Given the description of an element on the screen output the (x, y) to click on. 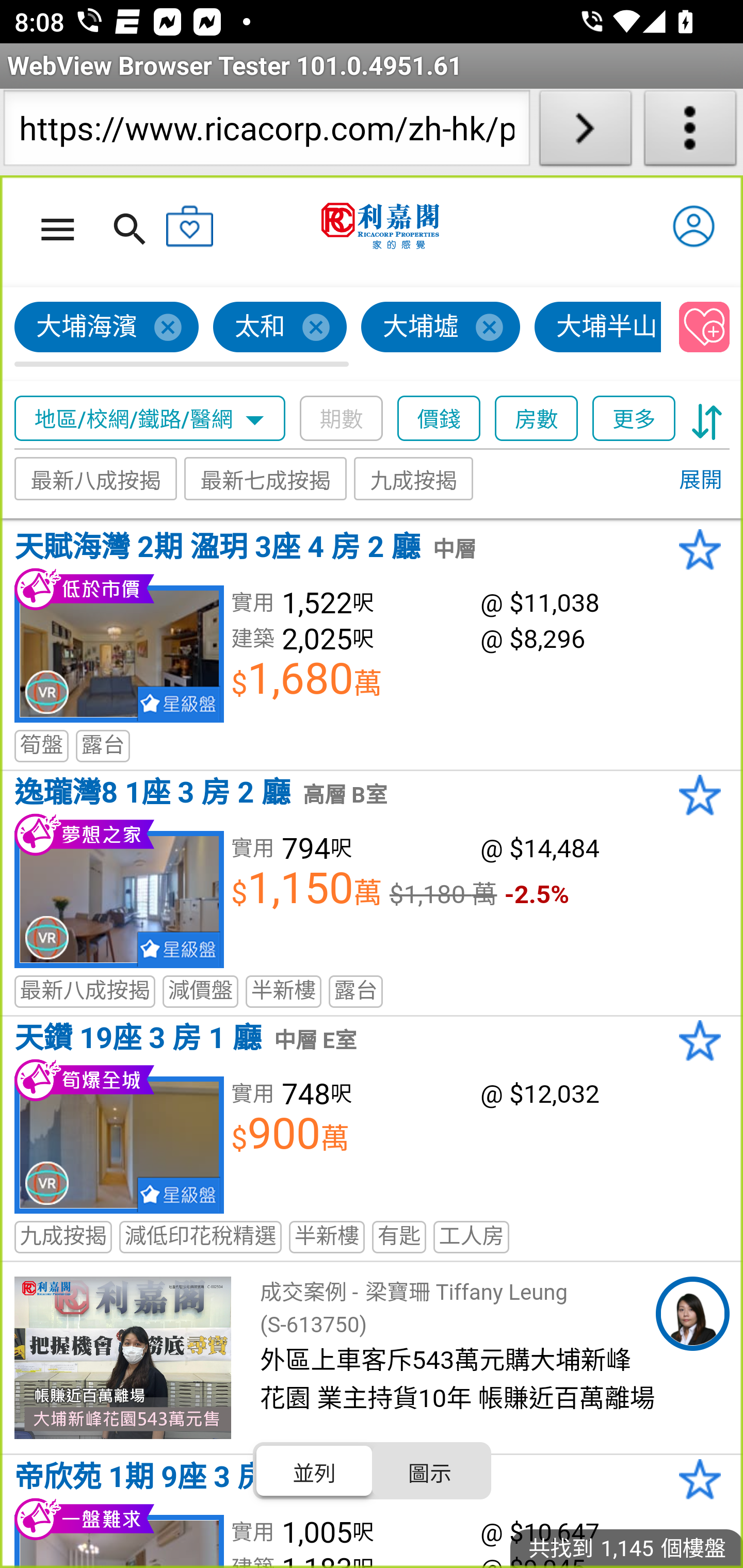
Load URL (585, 132)
About WebView (690, 132)
大埔海濱 太和 大埔墟 大埔半山 大埔市中心 (338, 334)
太和 (280, 327)
大埔墟 (441, 327)
大埔半山 (598, 327)
save (705, 327)
地區/校網/鐵路/醫網 (150, 418)
期數 (341, 418)
價錢 (439, 418)
房數 (536, 418)
更多 (634, 418)
sort (706, 418)
最新八成按揭 (96, 478)
最新七成按揭 (266, 478)
九成按揭 (413, 478)
展開 (699, 481)
Tiffany Leung (692, 1313)
並列 (314, 1470)
圖示 (429, 1470)
